Given the description of an element on the screen output the (x, y) to click on. 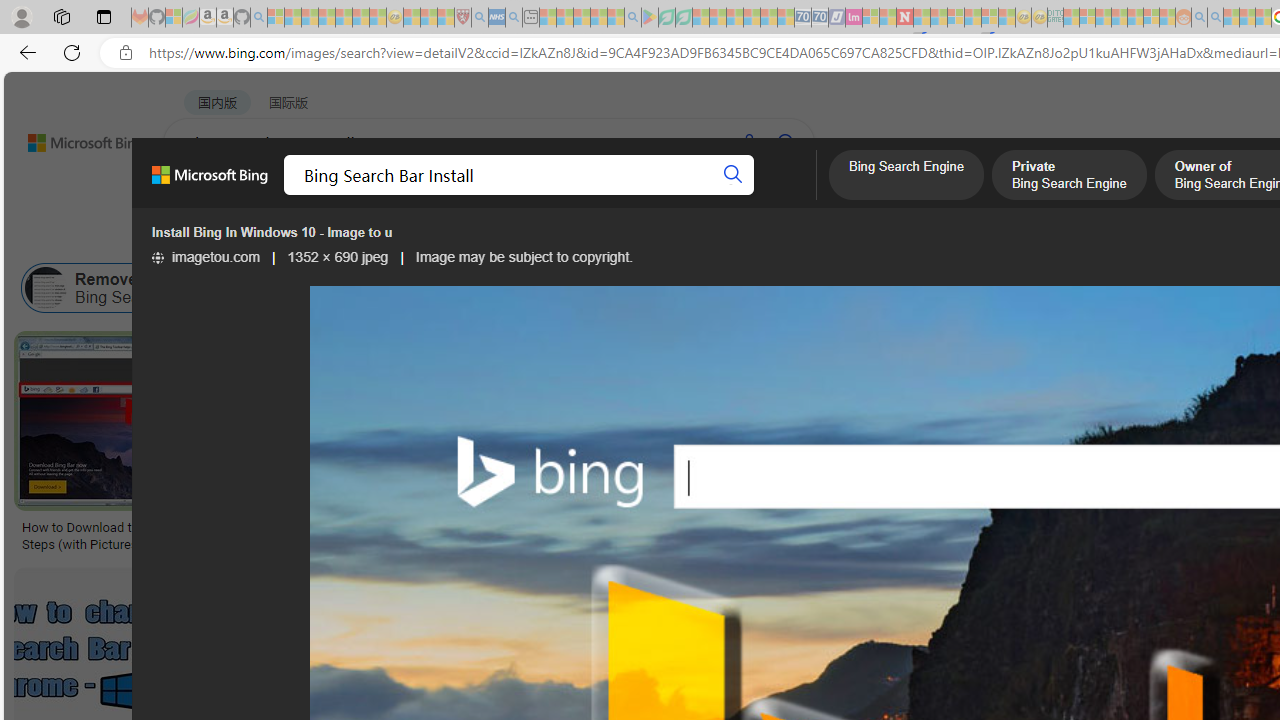
MY BING (276, 195)
Layout (443, 237)
Install Bing as My Homepage (1170, 287)
MY BING (276, 195)
Type (372, 237)
